Given the description of an element on the screen output the (x, y) to click on. 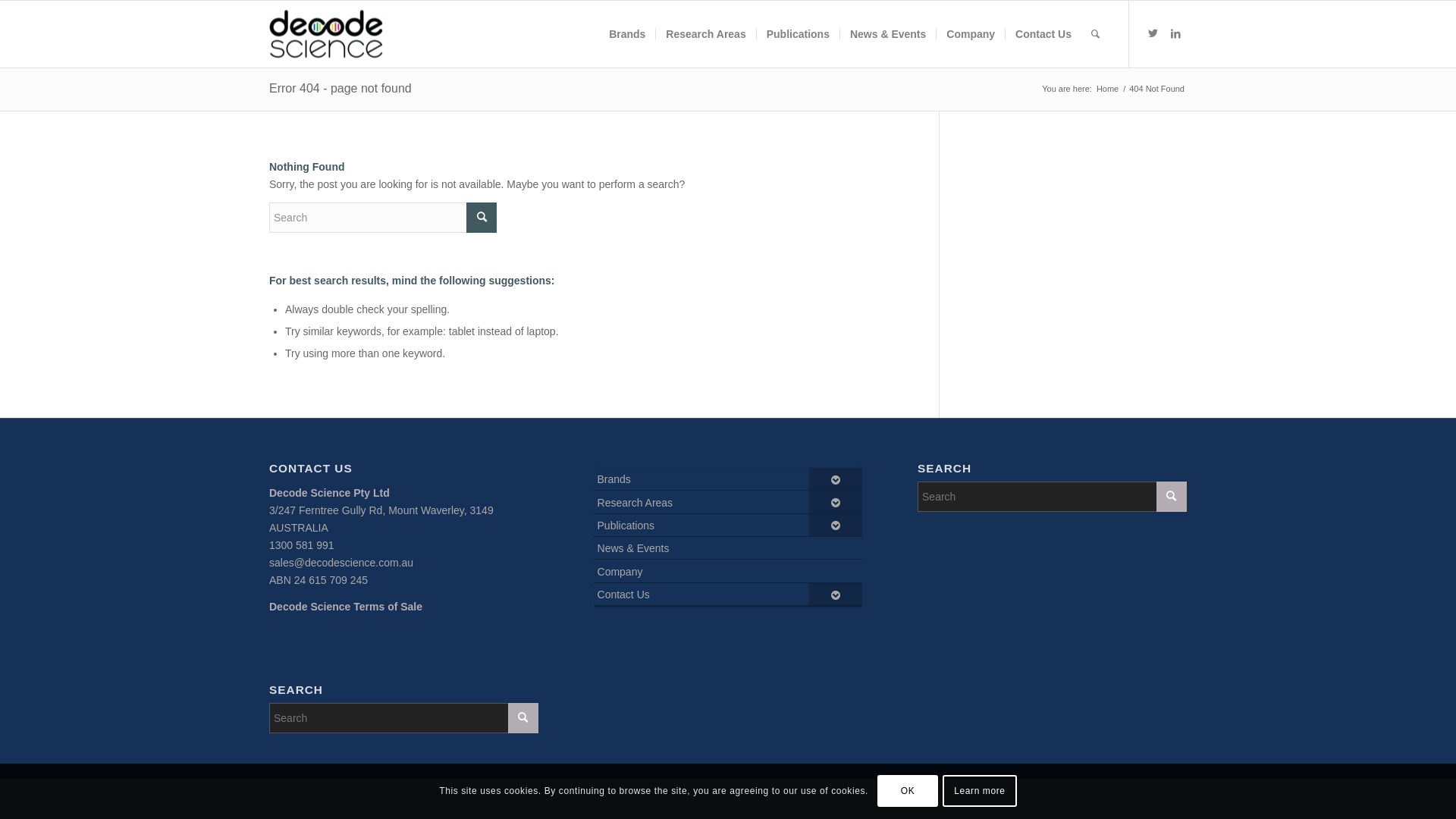
Research Areas Element type: text (705, 33)
Brands Element type: text (627, 33)
Contact Us Element type: text (727, 594)
Home Element type: text (1107, 88)
OK Element type: text (907, 790)
Decode Science Terms of Sale Element type: text (345, 606)
News & Events Element type: text (727, 547)
Brands Element type: text (727, 478)
Twitter Element type: hover (1152, 32)
Publications Element type: text (727, 525)
Contact Us Element type: text (1042, 33)
Research Areas Element type: text (727, 501)
LinkedIn Element type: hover (1175, 32)
News & Events Element type: text (887, 33)
Company Element type: text (727, 570)
Company Element type: text (969, 33)
Publications Element type: text (797, 33)
Learn more Element type: text (979, 790)
